Given the description of an element on the screen output the (x, y) to click on. 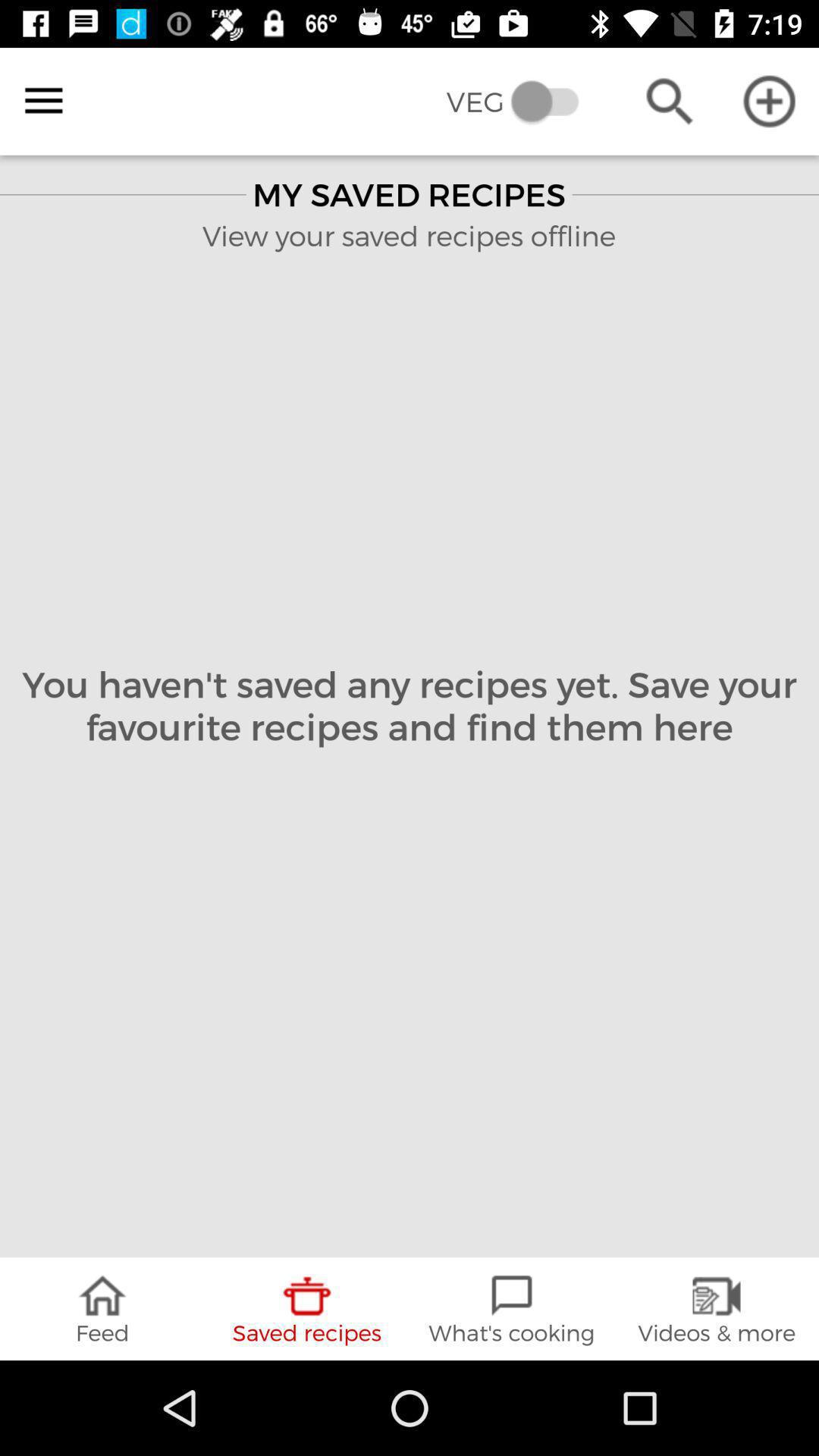
swipe to what's cooking (511, 1308)
